Given the description of an element on the screen output the (x, y) to click on. 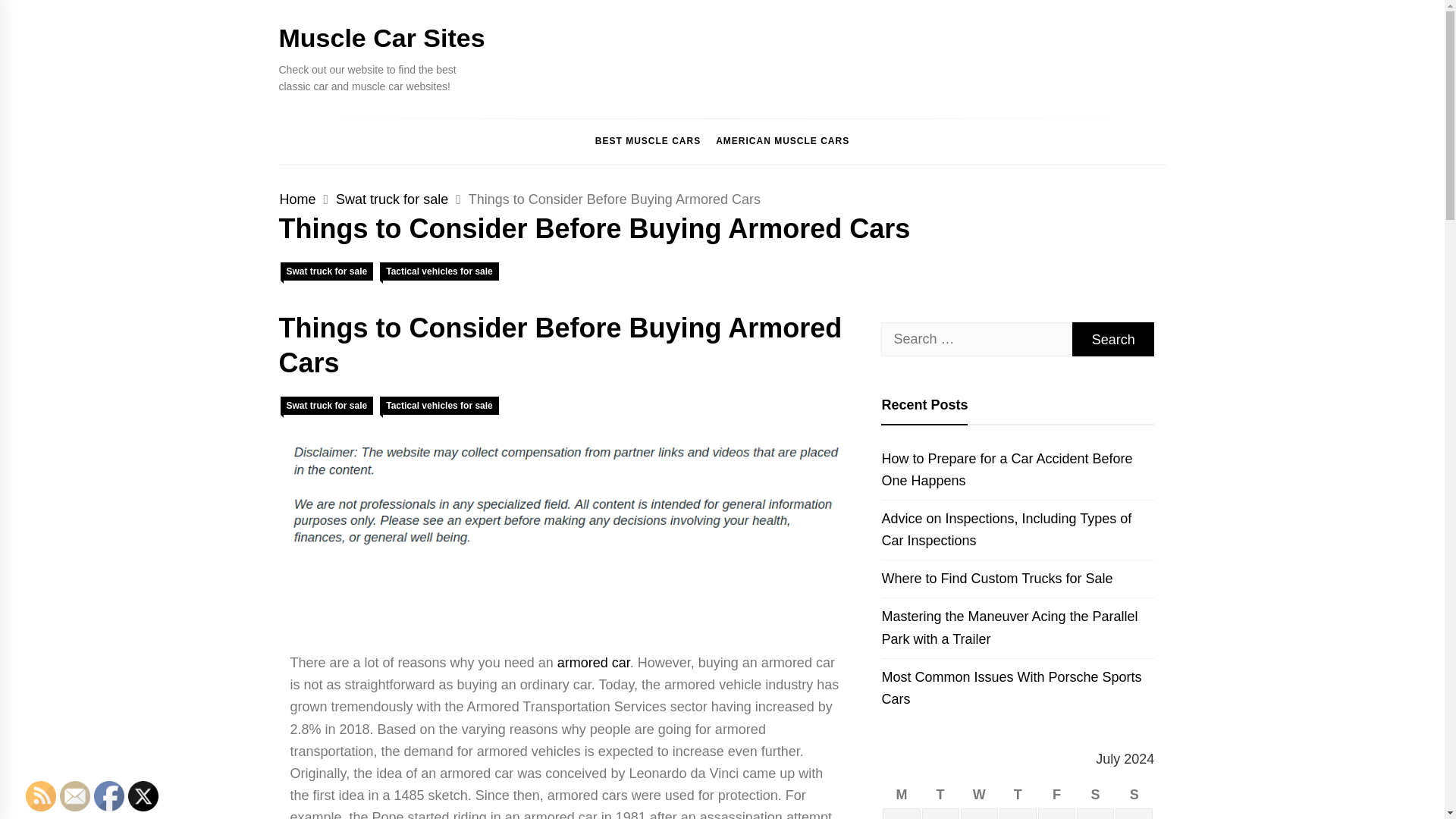
Monday (901, 794)
Try this (593, 662)
Saturday (1095, 794)
Facebook (108, 796)
RSS (41, 796)
Where to Find Custom Trucks for Sale (1017, 578)
Most Common Issues With Porsche Sports Cars (1017, 688)
Twitter (143, 796)
Swat truck for sale (327, 271)
armored car (593, 662)
How to Prepare for a Car Accident Before One Happens (1017, 469)
BEST MUSCLE CARS (647, 140)
Swat truck for sale (327, 405)
Home (297, 199)
Search (1112, 339)
